Given the description of an element on the screen output the (x, y) to click on. 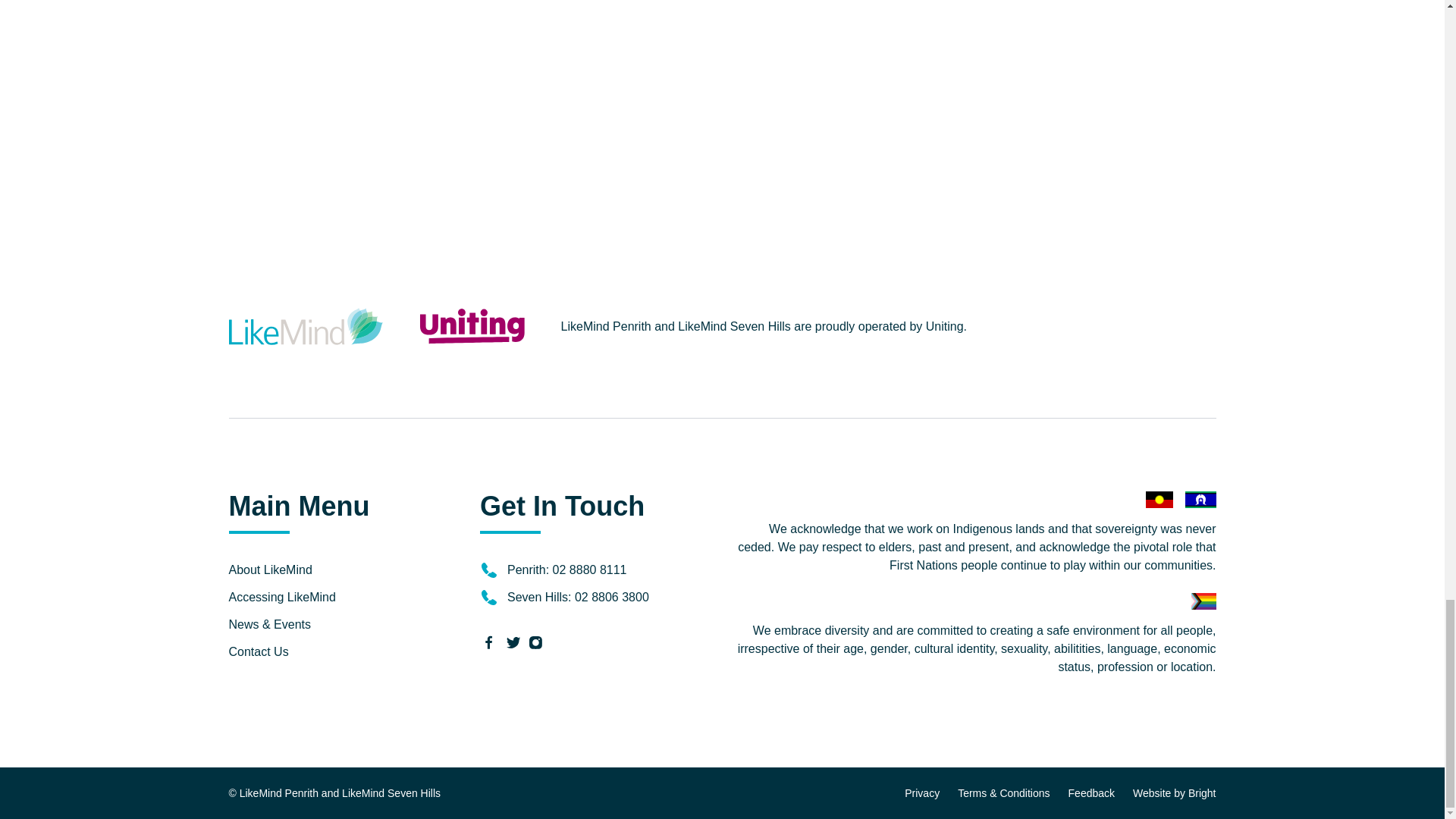
Feedback (1091, 793)
Accessing LikeMind (282, 596)
Contact Us (258, 651)
02 8880 8111 (590, 569)
02 8806 3800 (612, 596)
About LikeMind (270, 569)
Privacy (921, 793)
Website by Bright (1173, 793)
